Given the description of an element on the screen output the (x, y) to click on. 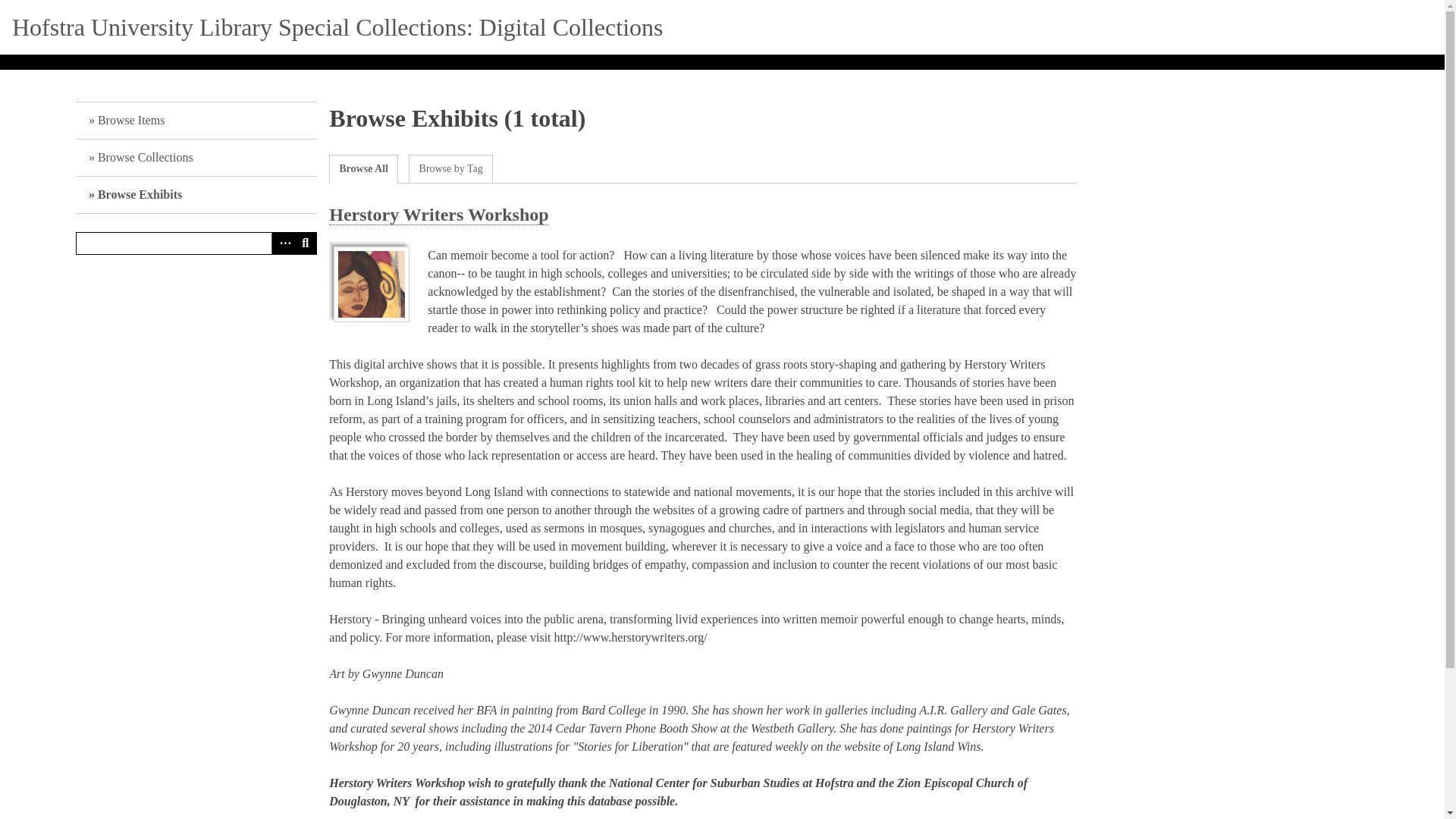
Browse All (363, 168)
Herstory Writers Workshop (438, 214)
Search (305, 242)
Search (195, 242)
Browse Exhibits (195, 194)
Browse Items (195, 120)
Browse Collections (195, 157)
Browse by Tag (450, 168)
Advanced Search (282, 242)
